Given the description of an element on the screen output the (x, y) to click on. 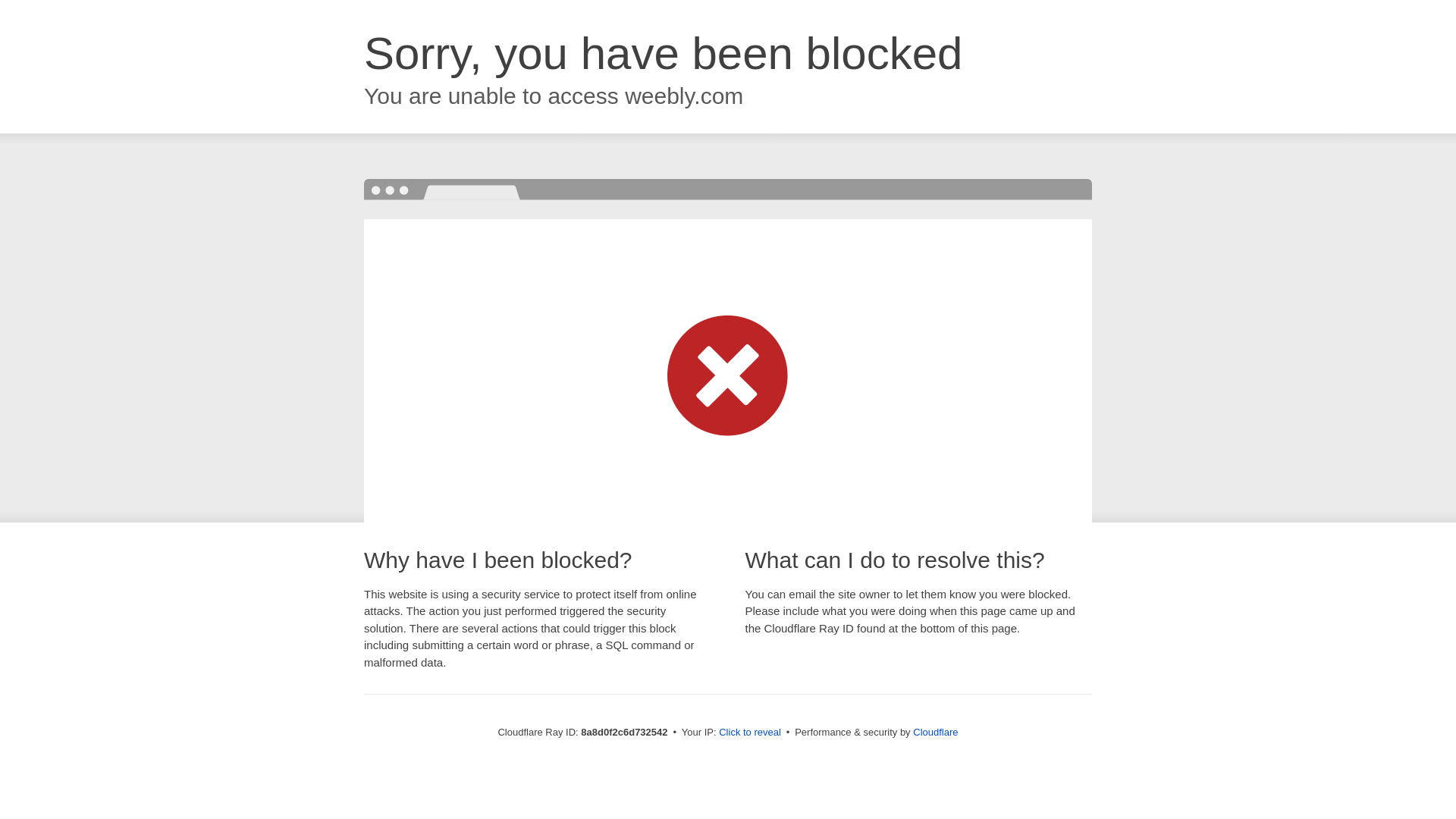
Click to reveal (749, 732)
Cloudflare (935, 731)
